Given the description of an element on the screen output the (x, y) to click on. 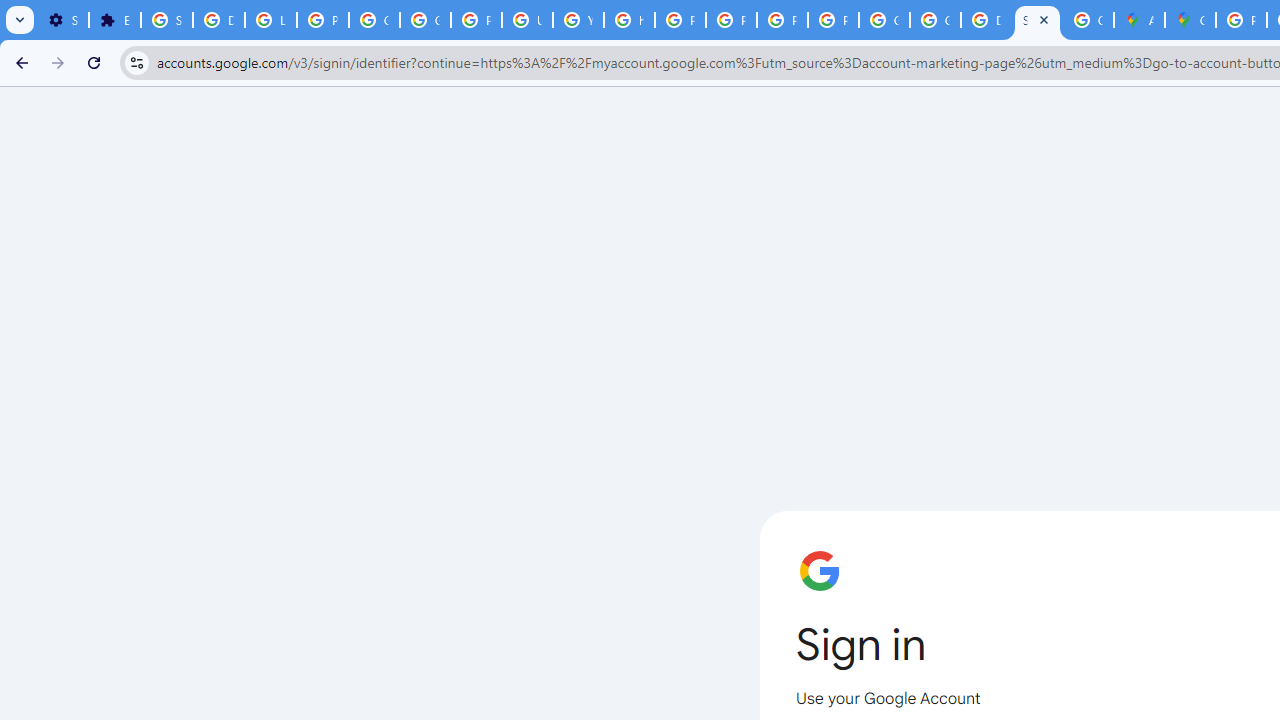
System (10, 11)
Close (1044, 19)
Sign in - Google Accounts (1037, 20)
Delete photos & videos - Computer - Google Photos Help (218, 20)
Google Account Help (374, 20)
Forward (57, 62)
Google Maps (1189, 20)
Privacy Help Center - Policies Help (680, 20)
Search tabs (20, 20)
Reload (93, 62)
https://scholar.google.com/ (629, 20)
